Given the description of an element on the screen output the (x, y) to click on. 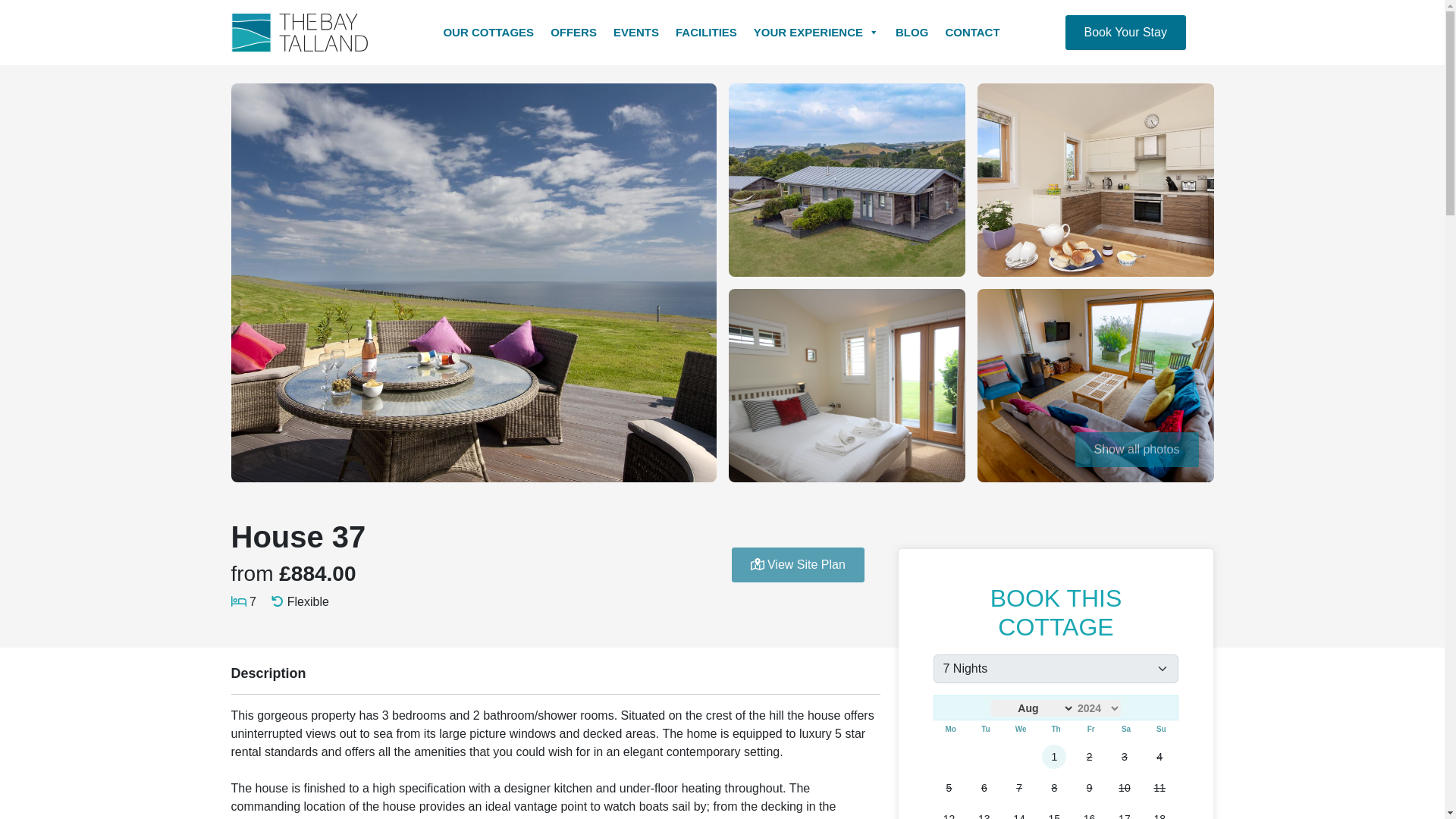
BLOG (912, 32)
Show all photos (1136, 449)
Book Your Stay (1124, 32)
EVENTS (635, 32)
Wednesday (1020, 728)
Tuesday (985, 728)
OFFERS (573, 32)
Sunday (1161, 728)
Thursday (1055, 728)
Monday (949, 728)
